Given the description of an element on the screen output the (x, y) to click on. 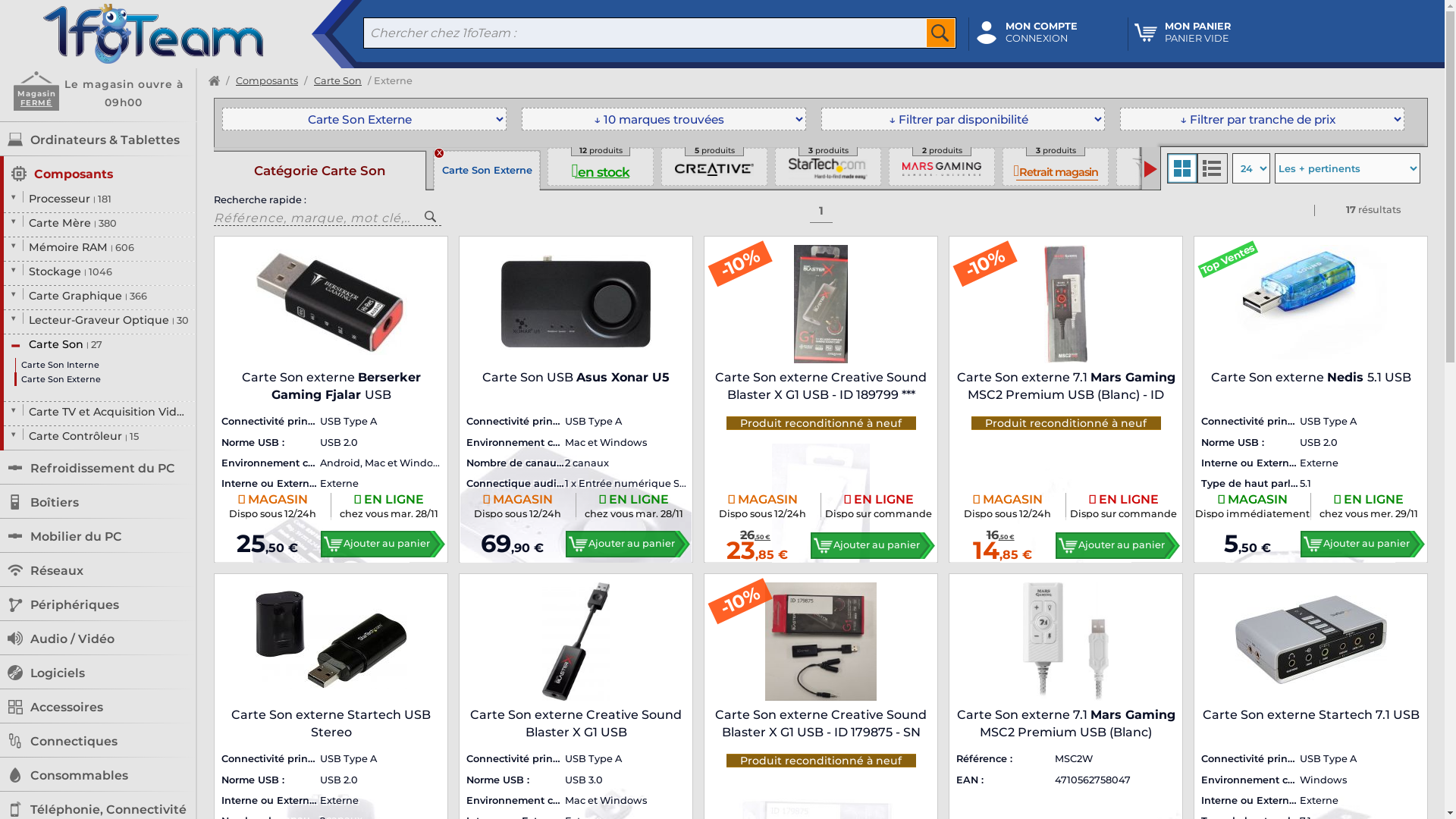
Lecteur-Graveur Optique |30 Element type: text (107, 326)
1 Element type: text (820, 211)
Carte Son externe Creative Sound Blaster X G1 USB Element type: text (575, 721)
Carte Son externe 7.1 Mars Gaming MSC2 Premium USB (Blanc) Element type: text (1065, 721)
5 produits Element type: text (714, 166)
Carte Son Interne Element type: text (105, 364)
1 produit Element type: text (1169, 166)
1 produit Element type: text (1396, 166)
voir le produit Carte Son Berserker Gaming Fjalar Element type: hover (330, 304)
Stockage |1046 Element type: text (107, 277)
Carte Son externe Nedis 5.1 USB Element type: text (1310, 384)
voir le produit Carte son externe Nedis 5.1 USB Element type: hover (1310, 304)
voir le produit Carte Son Asus Xonar U5 Element type: hover (575, 304)
Processeur |181 Element type: text (107, 204)
Carte Son externe Startech USB Stereo Element type: text (330, 721)
Carte Son |27 Element type: text (107, 350)
2 produits Element type: text (941, 166)
3 produits Element type: text (828, 166)
Carte Son USB Asus Xonar U5 Element type: text (575, 384)
voir le produit Carte Son externe Startech 7.1 USB Element type: hover (1310, 641)
x
Carte Son Externe Element type: text (486, 170)
Carte Son Externe Element type: text (104, 379)
voir le produit Carte son externe Startech USB Stereo Element type: hover (330, 641)
1 produit Element type: text (1283, 166)
Carte Son externe Berserker Gaming Fjalar USB Element type: text (330, 384)
Carte Son Element type: text (337, 81)
Composants Element type: text (266, 81)
Carte Graphique |366 Element type: text (107, 301)
Carte Son externe Startech 7.1 USB Element type: text (1310, 721)
